Given the description of an element on the screen output the (x, y) to click on. 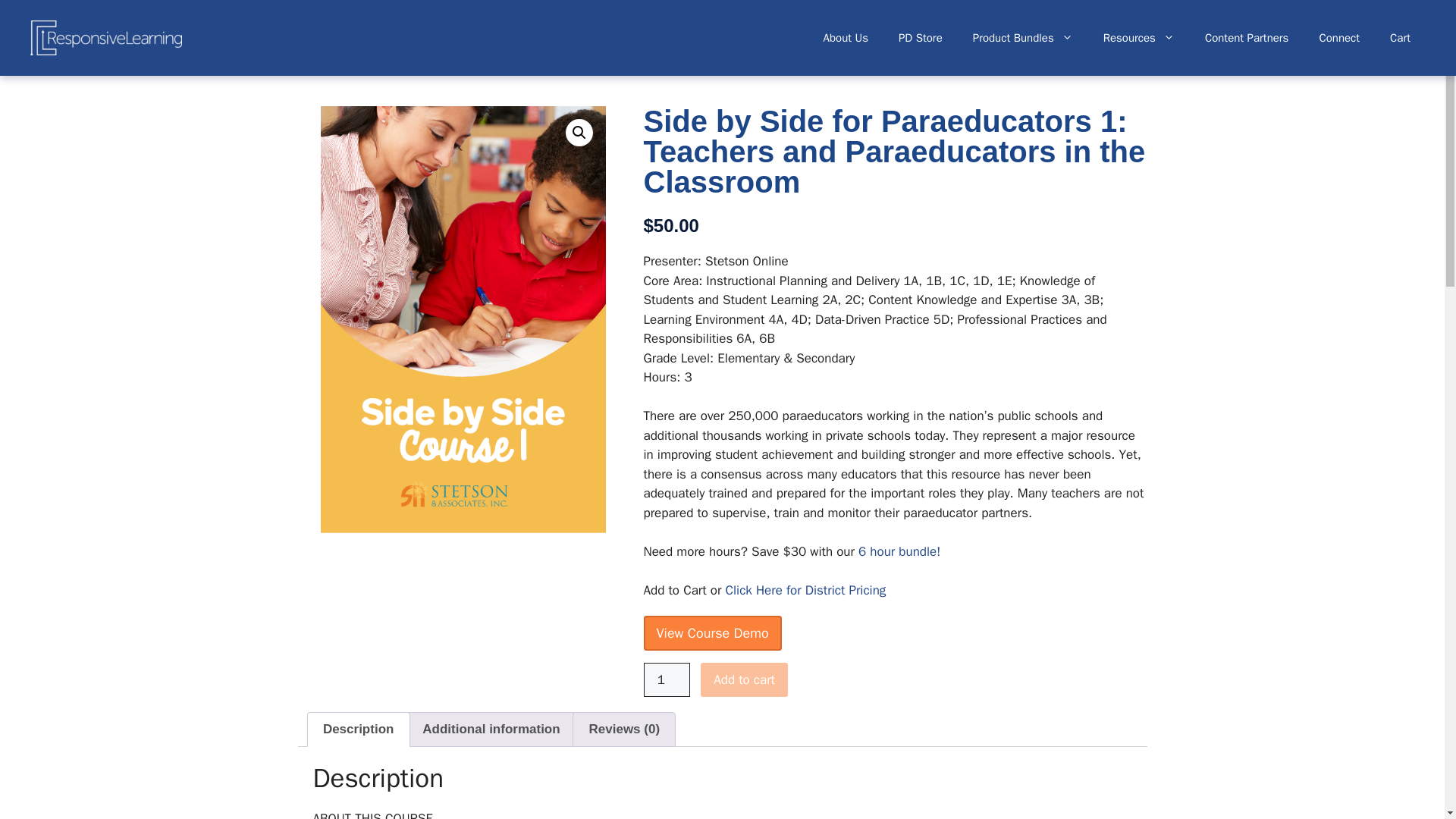
6 hour bundle! (899, 550)
Product Bundles (1022, 37)
Content Partners (1246, 37)
Resources (1138, 37)
PD Store (920, 37)
Click Here for District Pricing (805, 590)
Add to cart (743, 679)
View Course Demo (711, 632)
Cart (1399, 37)
Connect (1338, 37)
